Given the description of an element on the screen output the (x, y) to click on. 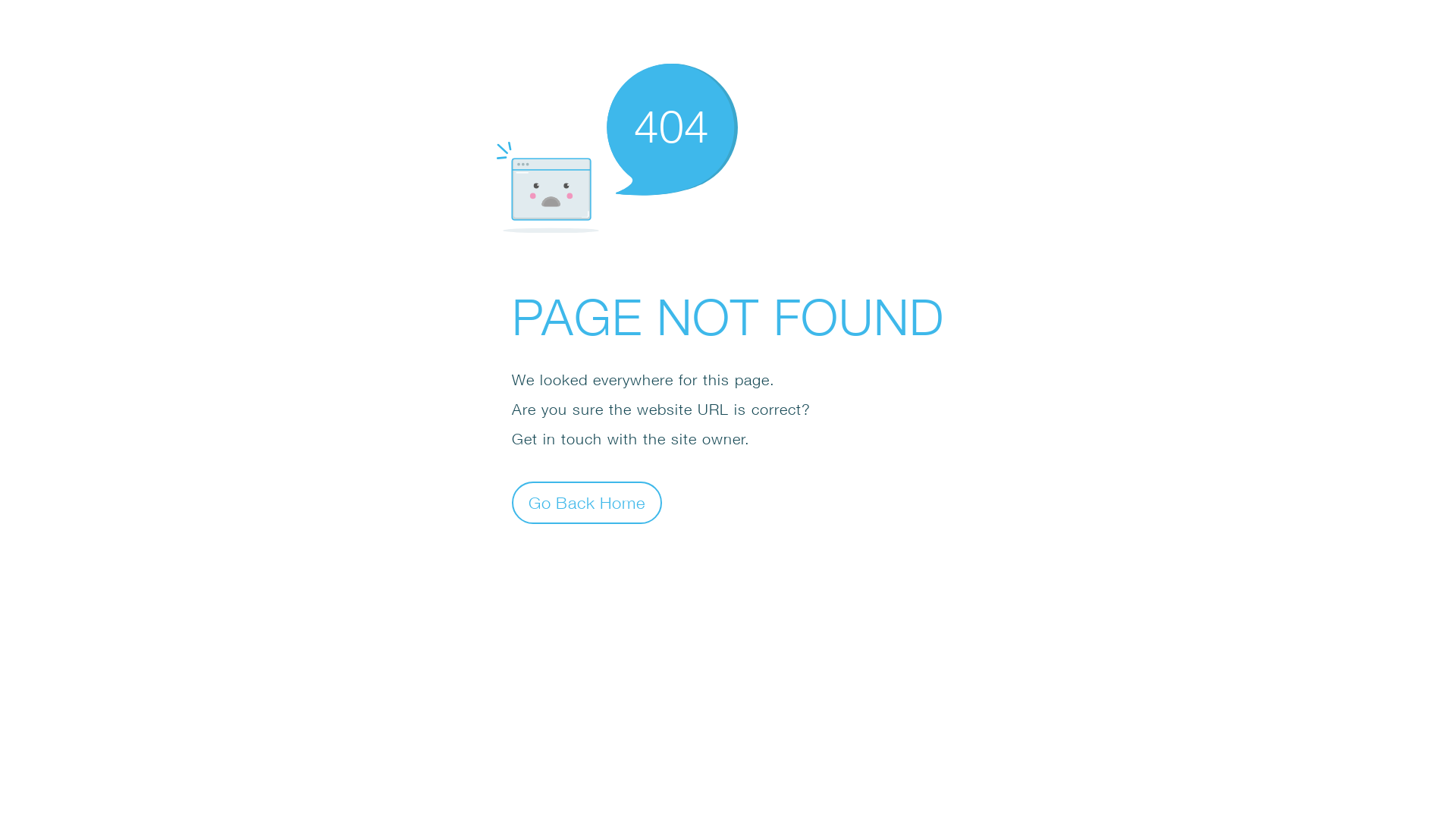
Go Back Home Element type: text (586, 502)
